Given the description of an element on the screen output the (x, y) to click on. 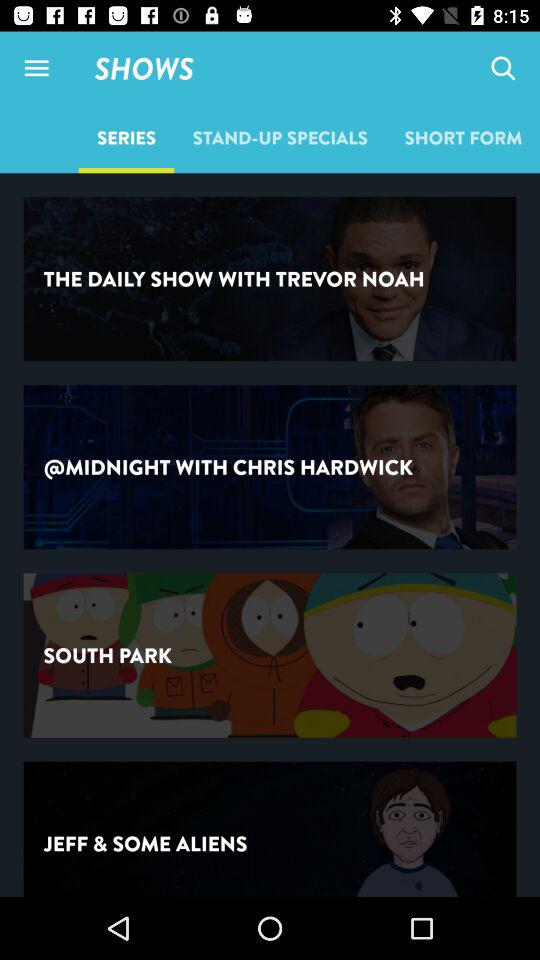
click item to the left of shows item (36, 68)
